Given the description of an element on the screen output the (x, y) to click on. 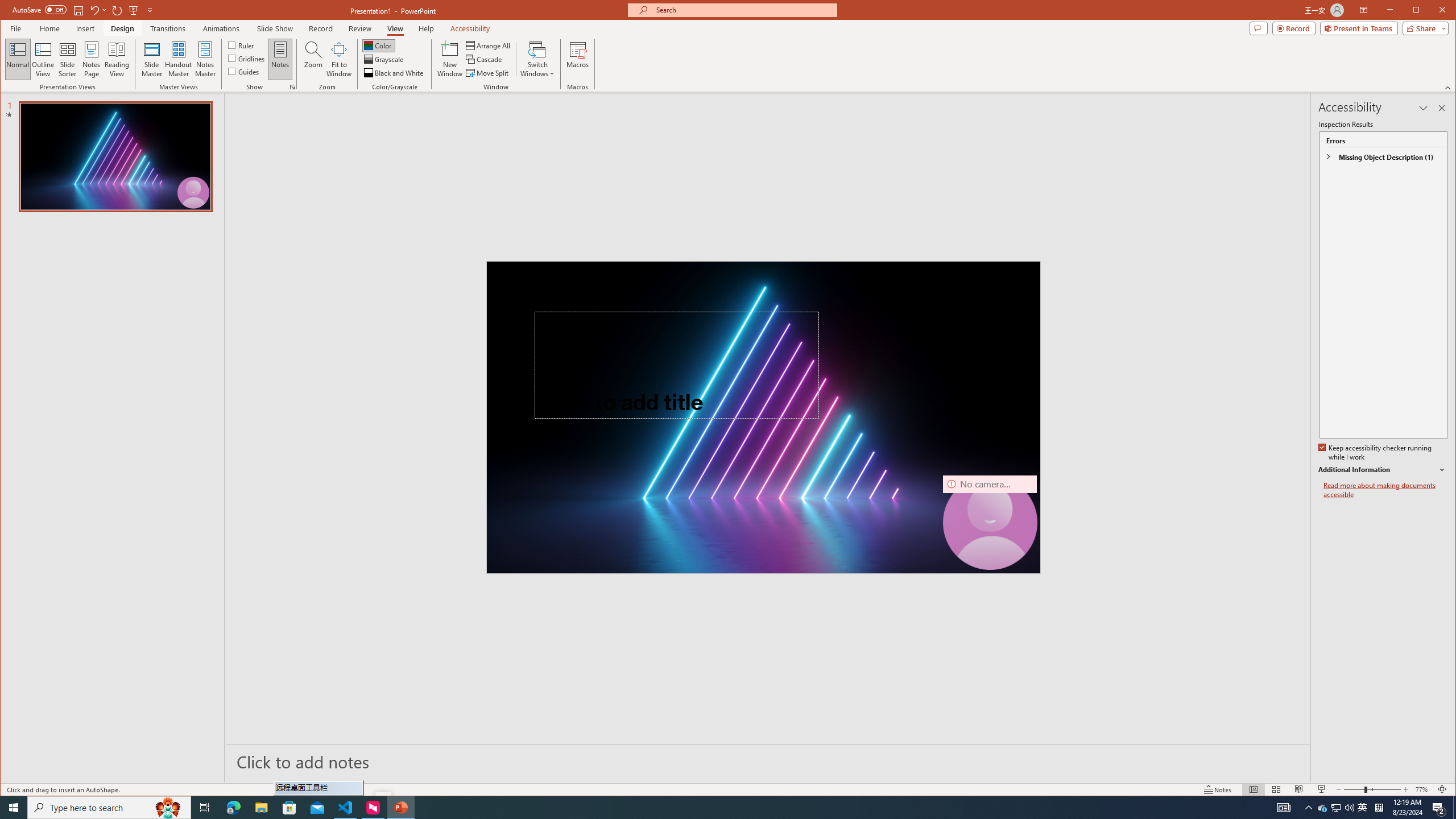
Cascade (484, 59)
Notes Master (204, 59)
Zoom 77% (1422, 789)
